Given the description of an element on the screen output the (x, y) to click on. 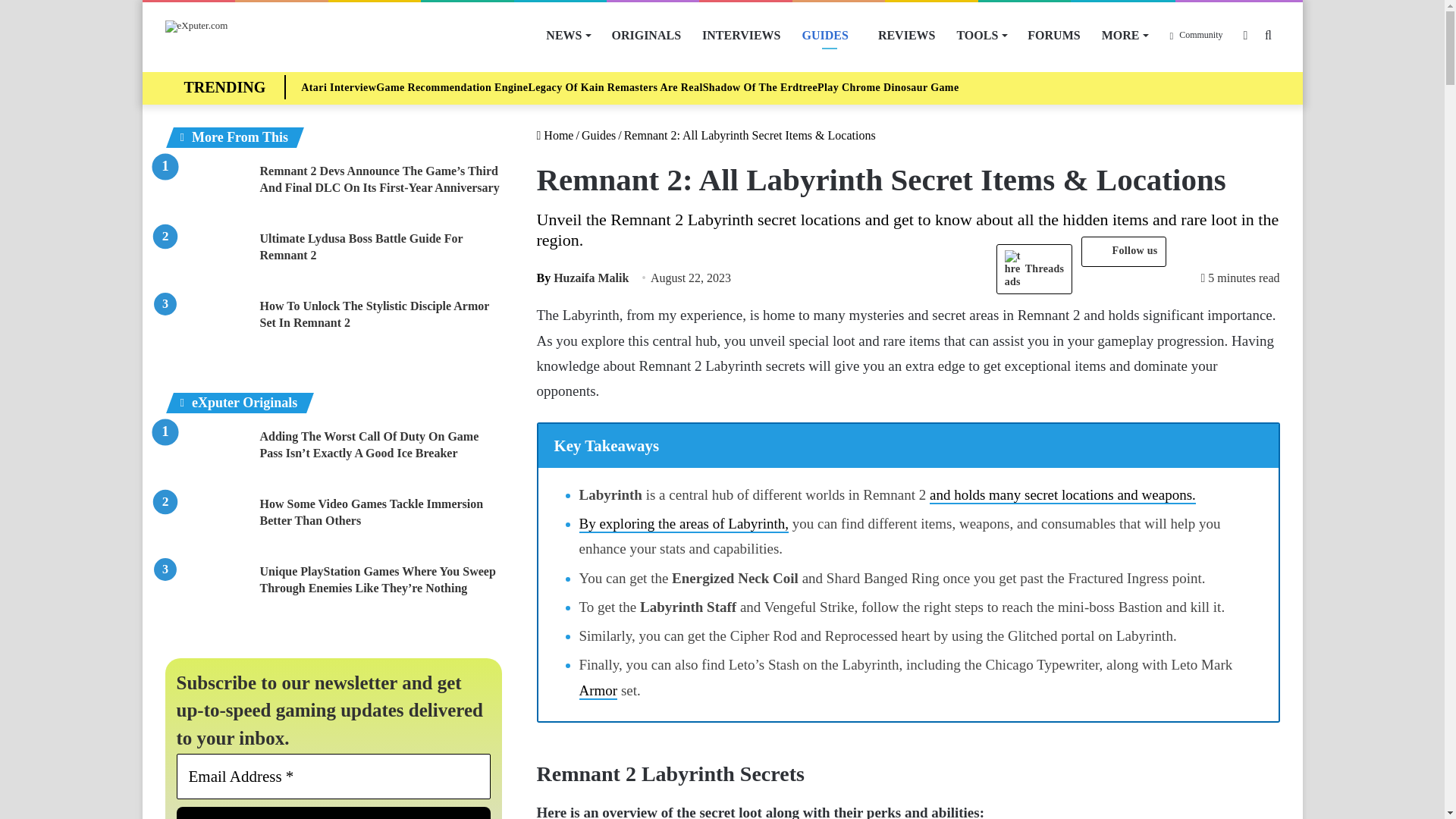
Armor (598, 691)
MORE (1124, 35)
REVIEWS (906, 35)
GUIDES (829, 35)
FORUMS (1053, 35)
Huzaifa Malik (582, 277)
Email Address (333, 776)
eXputer.com (196, 26)
ORIGINALS (645, 35)
INTERVIEWS (740, 35)
JOIN THE  CLUB (333, 812)
NEWS (567, 35)
Switch skin (1245, 35)
TOOLS (980, 35)
